Given the description of an element on the screen output the (x, y) to click on. 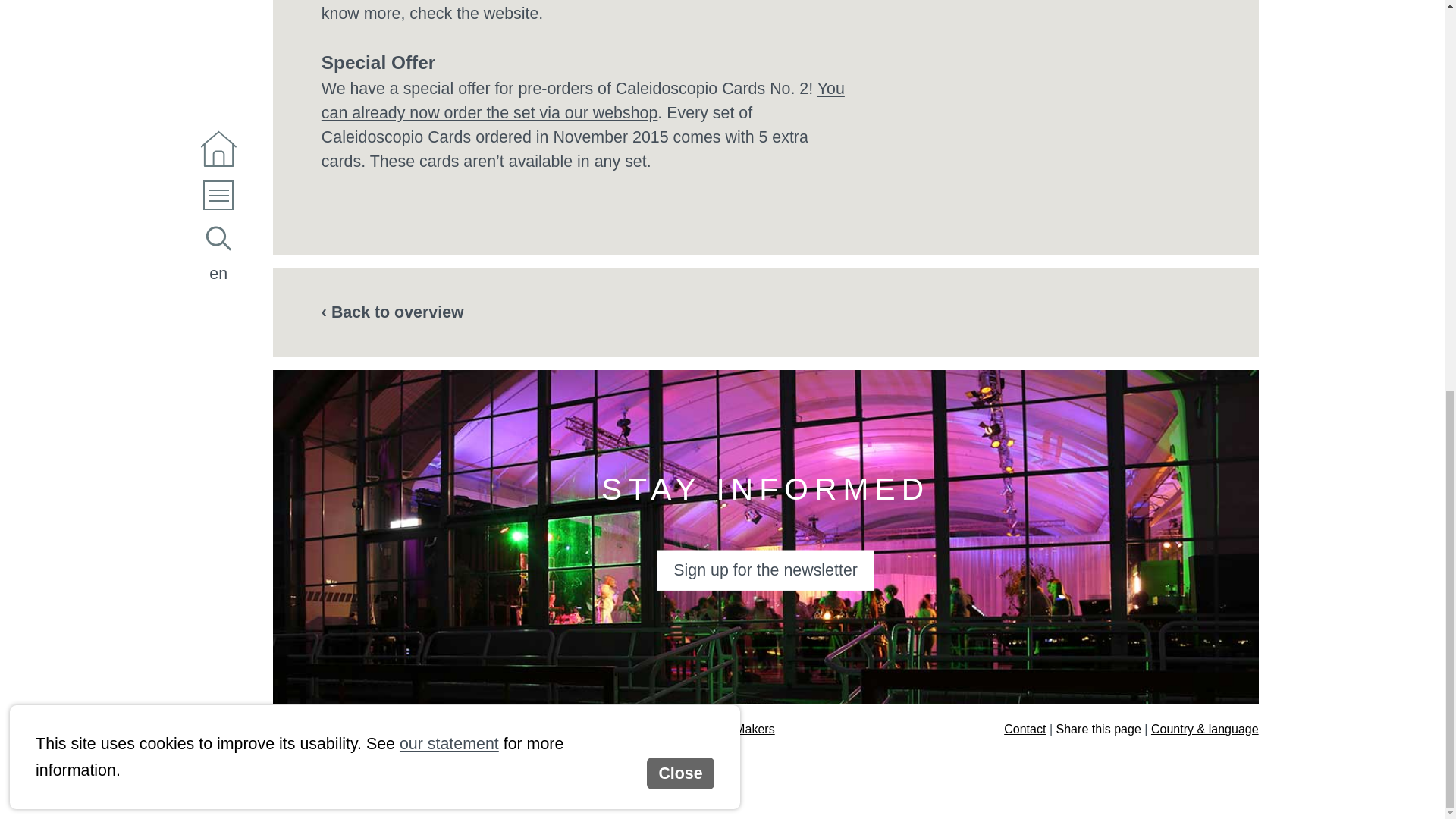
Sign up for the newsletter (765, 570)
Contact (1024, 728)
Impressum (616, 728)
Site by MasterMakers (716, 728)
You can already now order the set via our webshop (582, 99)
Privacy (557, 728)
